Given the description of an element on the screen output the (x, y) to click on. 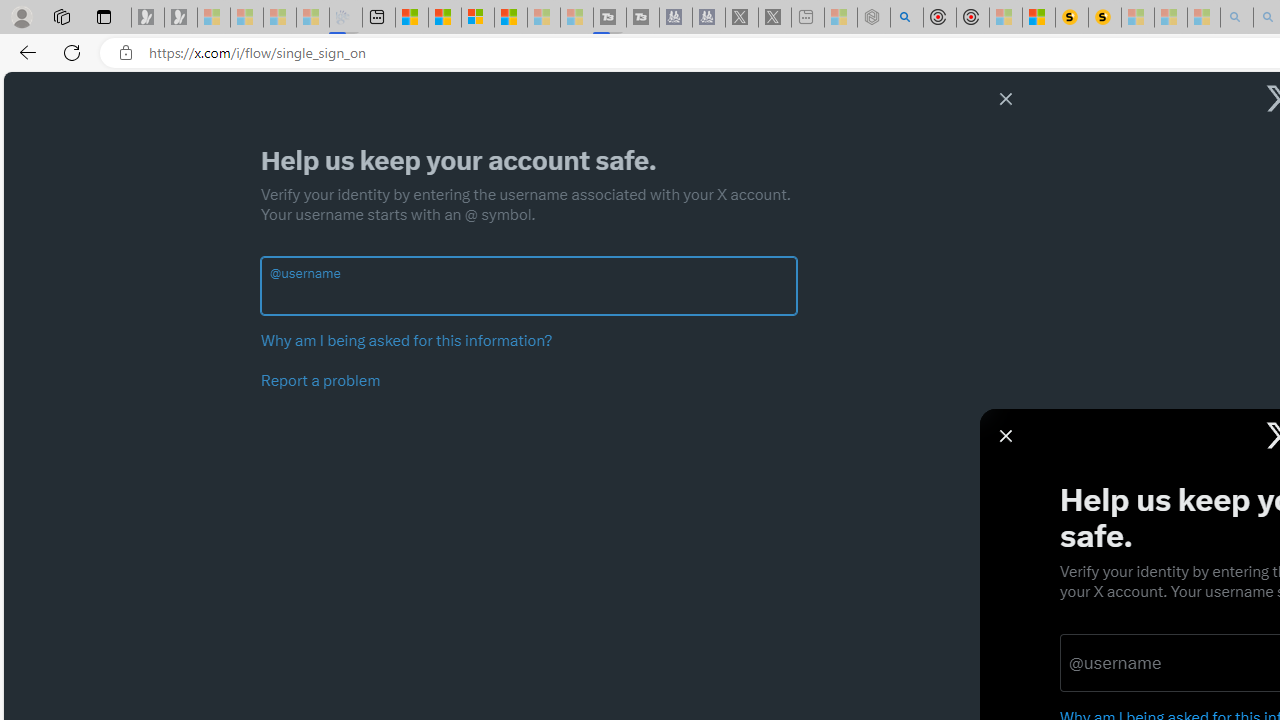
Nordace - Summer Adventures 2024 - Sleeping (873, 17)
Michelle Starr, Senior Journalist at ScienceAlert (1105, 17)
amazon - Search - Sleeping (1237, 17)
Wildlife - MSN - Sleeping (841, 17)
Newsletter Sign Up - Sleeping (181, 17)
Microsoft Start - Sleeping (543, 17)
